Given the description of an element on the screen output the (x, y) to click on. 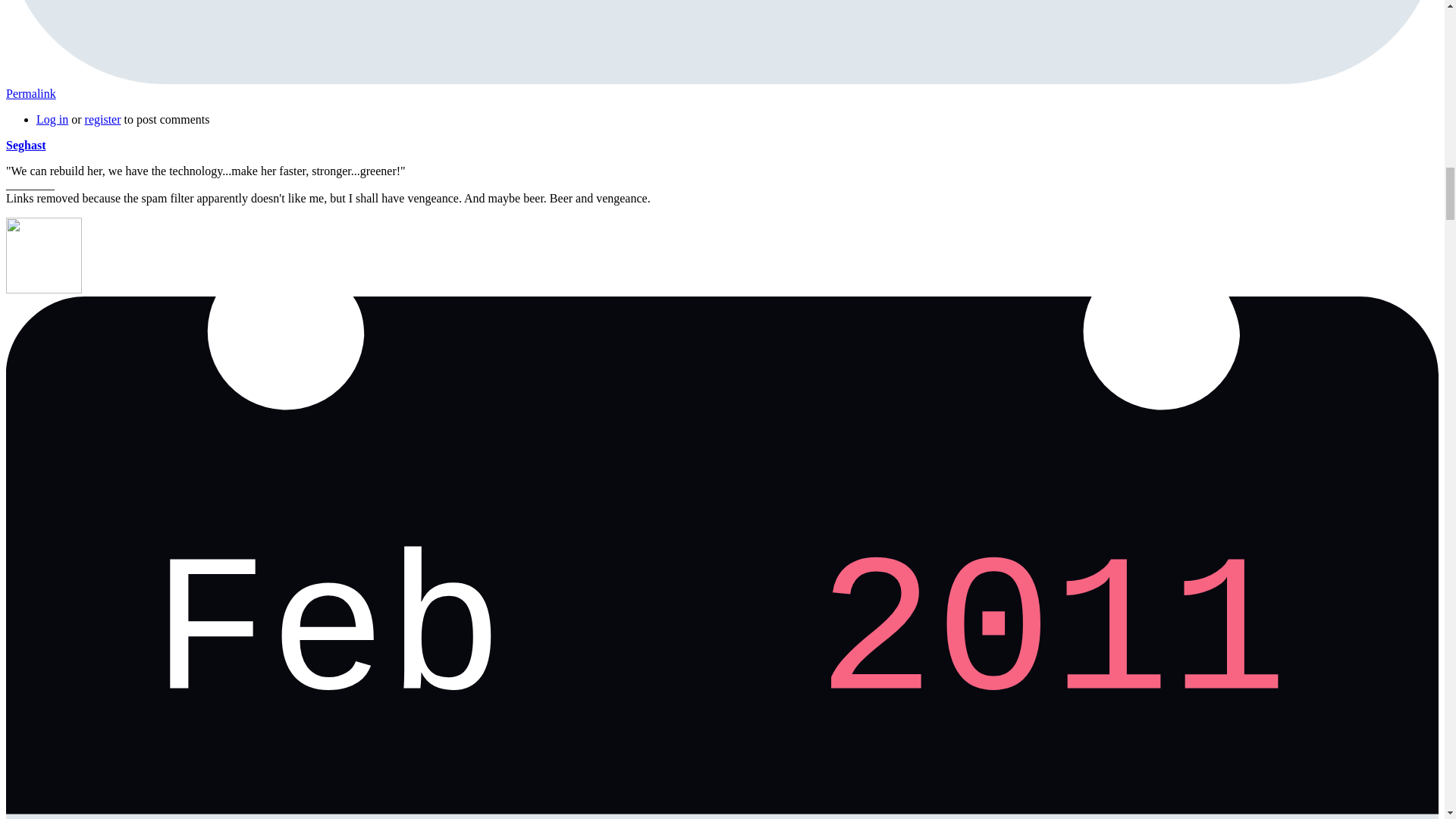
View user profile. (25, 144)
Permalink (30, 92)
register (102, 119)
Log in (52, 119)
Seghast (25, 144)
